Given the description of an element on the screen output the (x, y) to click on. 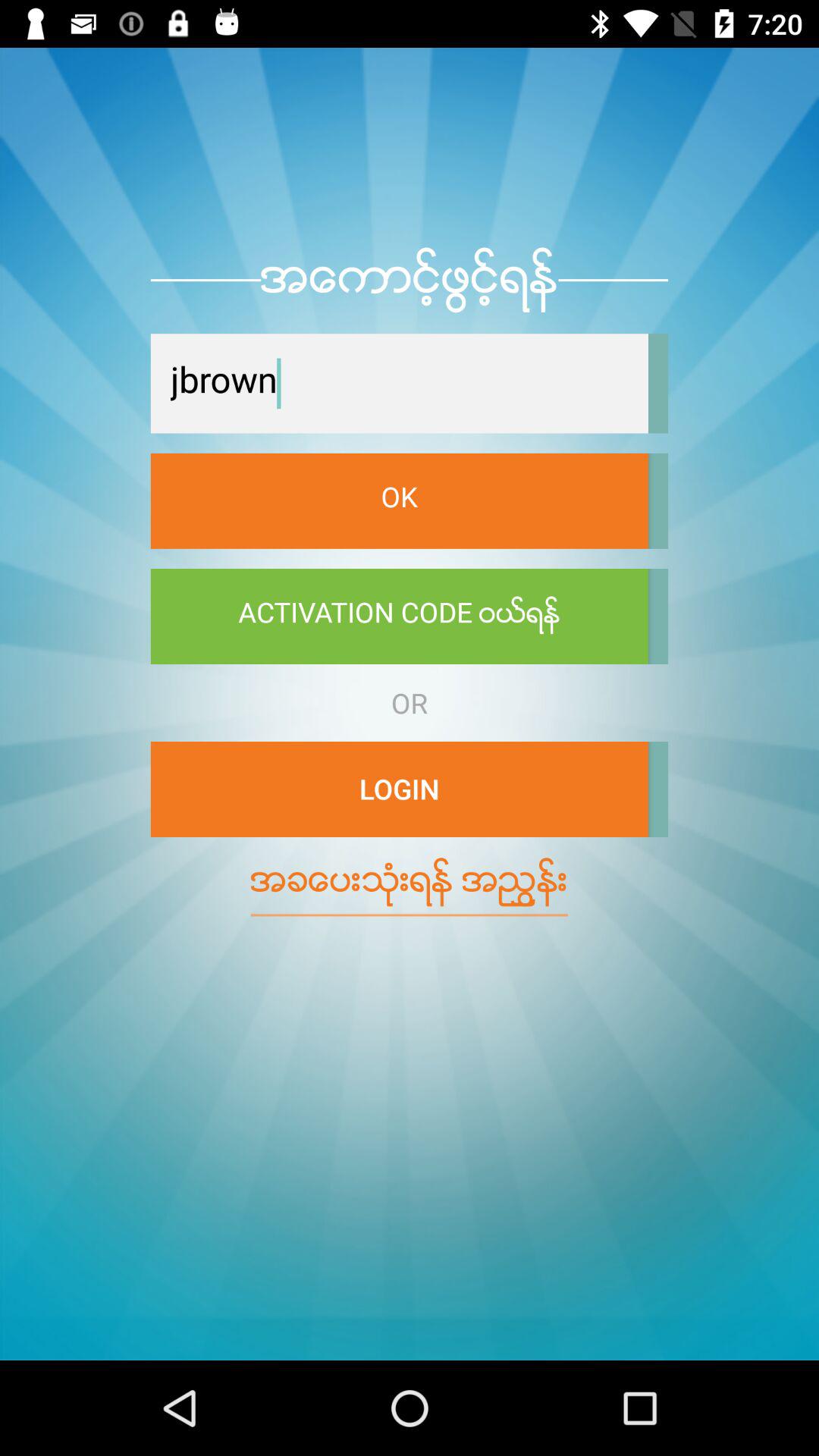
turn off login icon (399, 789)
